Given the description of an element on the screen output the (x, y) to click on. 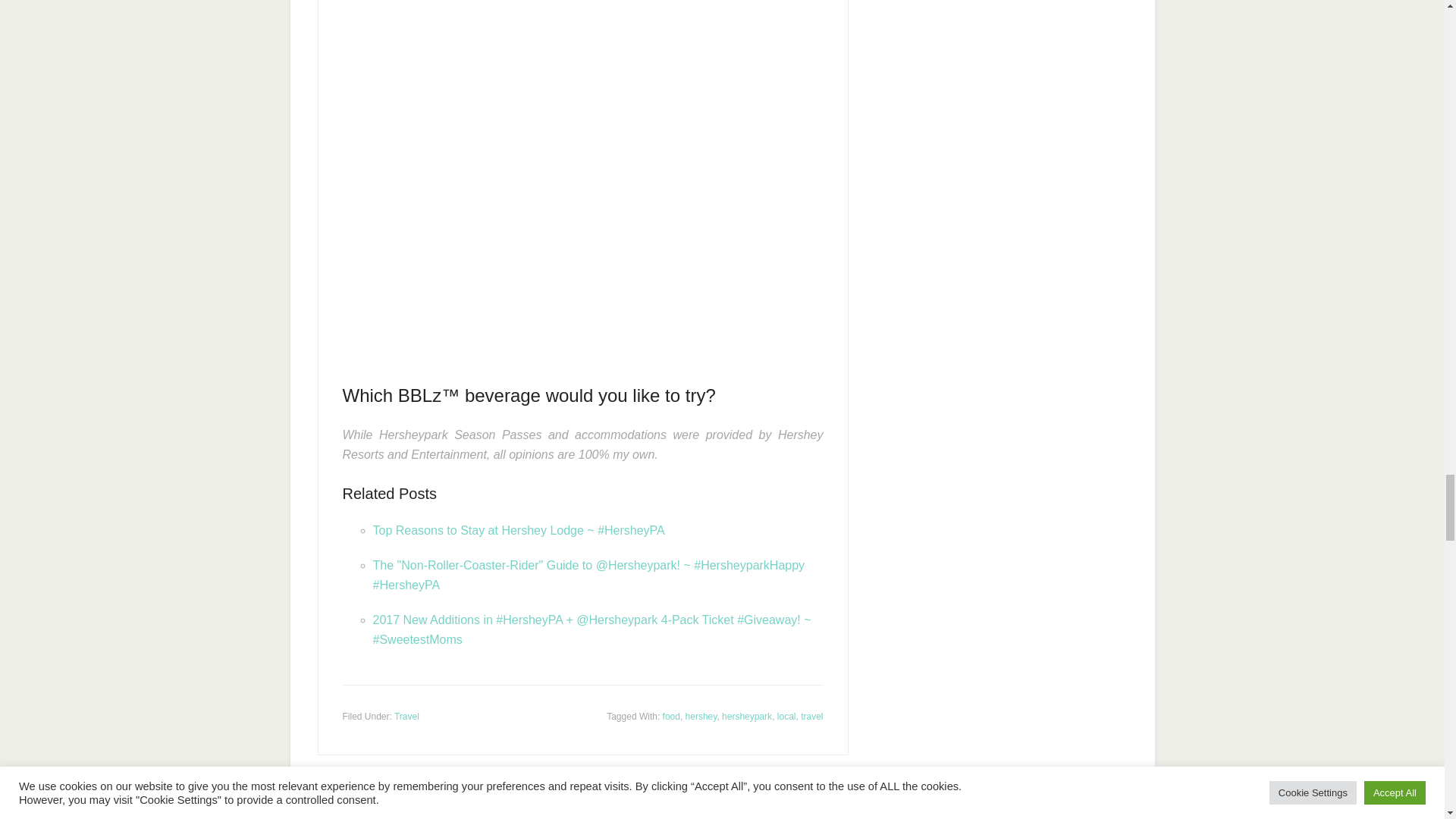
travel (811, 716)
Travel (406, 716)
food (670, 716)
local (786, 716)
hershey (701, 716)
hersheypark (746, 716)
